Given the description of an element on the screen output the (x, y) to click on. 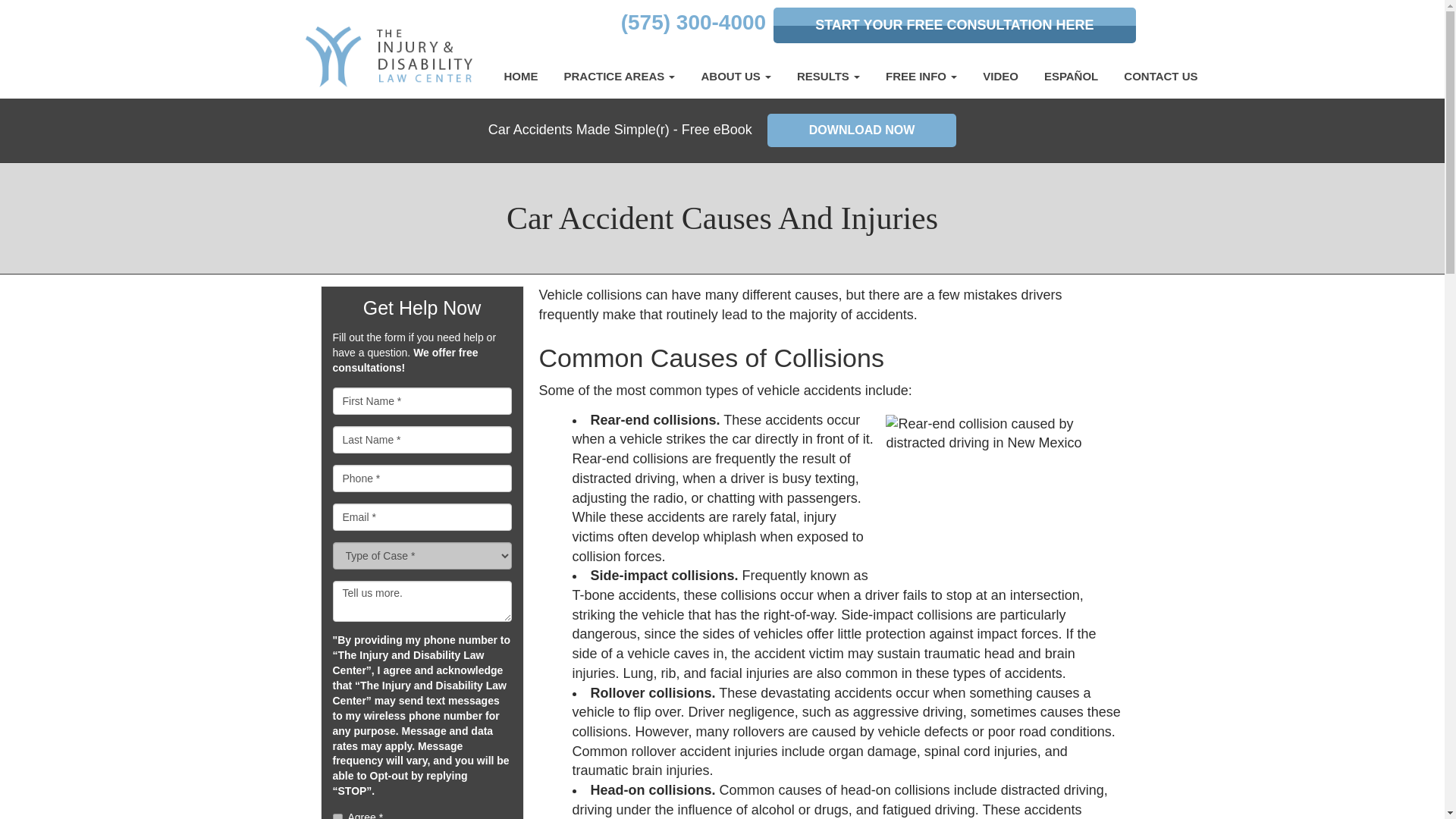
VIDEO (999, 75)
CONTACT US (1159, 75)
PRACTICE AREAS (618, 75)
START YOUR FREE CONSULTATION HERE (954, 25)
HOME (521, 75)
FREE INFO (920, 75)
ABOUT US (735, 75)
RESULTS (828, 75)
Agree (336, 816)
DOWNLOAD NOW (861, 130)
